Given the description of an element on the screen output the (x, y) to click on. 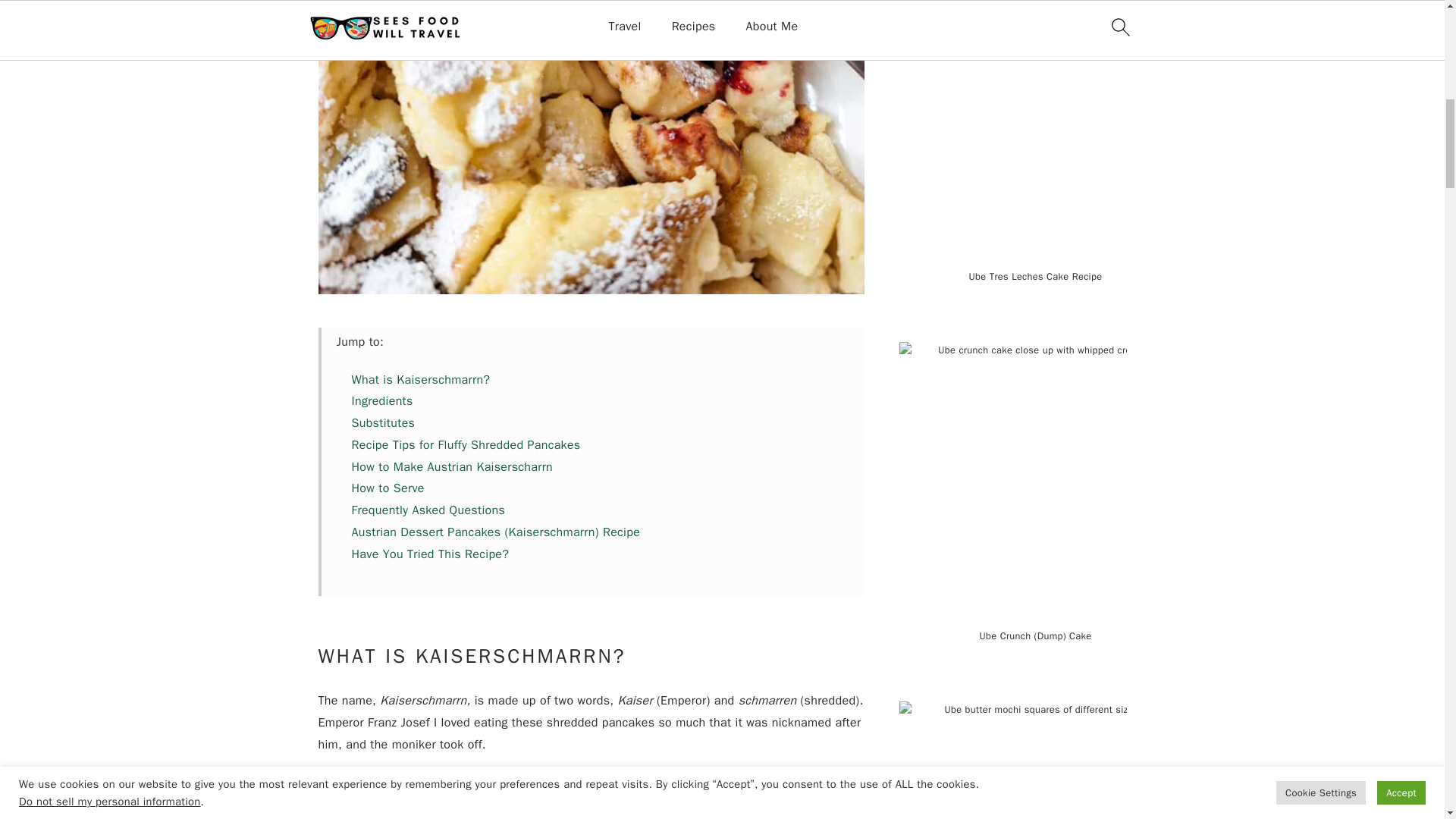
Ingredients (382, 400)
Substitutes (383, 422)
What is Kaiserschmarrn? (421, 378)
Recipe Tips for Fluffy Shredded Pancakes (466, 444)
